Given the description of an element on the screen output the (x, y) to click on. 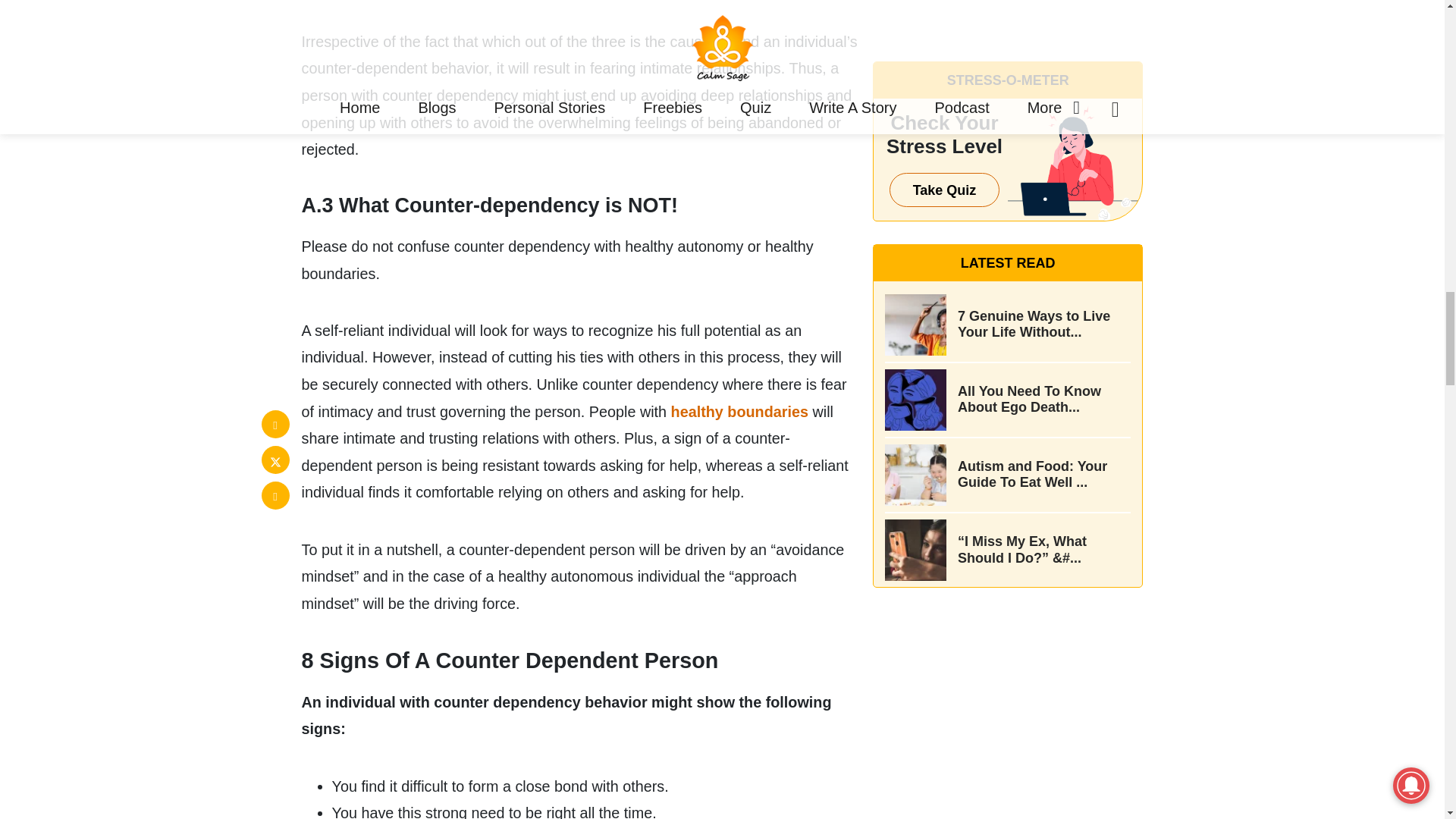
healthy boundaries (737, 411)
